Given the description of an element on the screen output the (x, y) to click on. 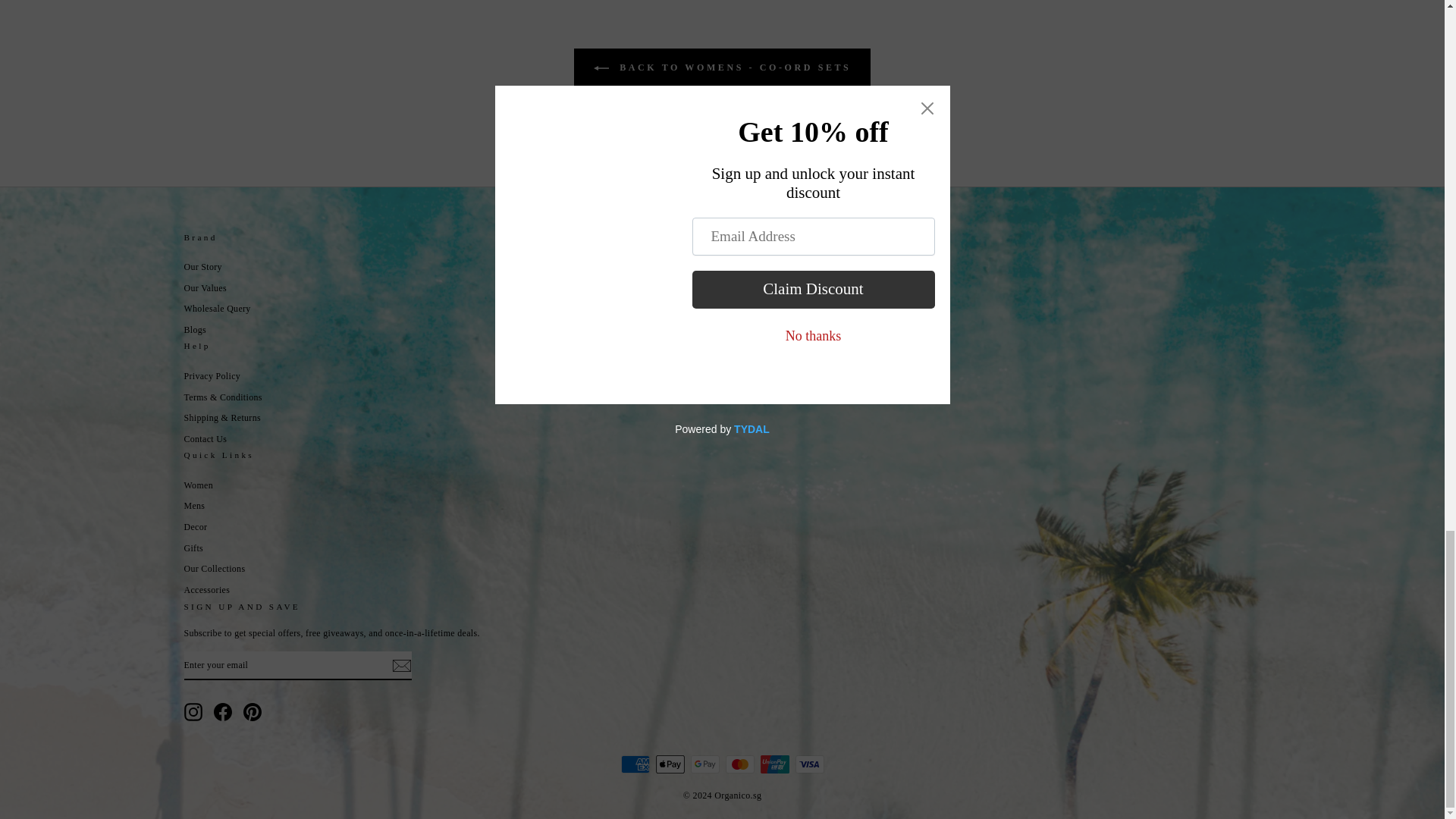
Organico.sg on Instagram (192, 711)
Organico.sg on Facebook (222, 711)
Organico.sg on Pinterest (251, 711)
